Given the description of an element on the screen output the (x, y) to click on. 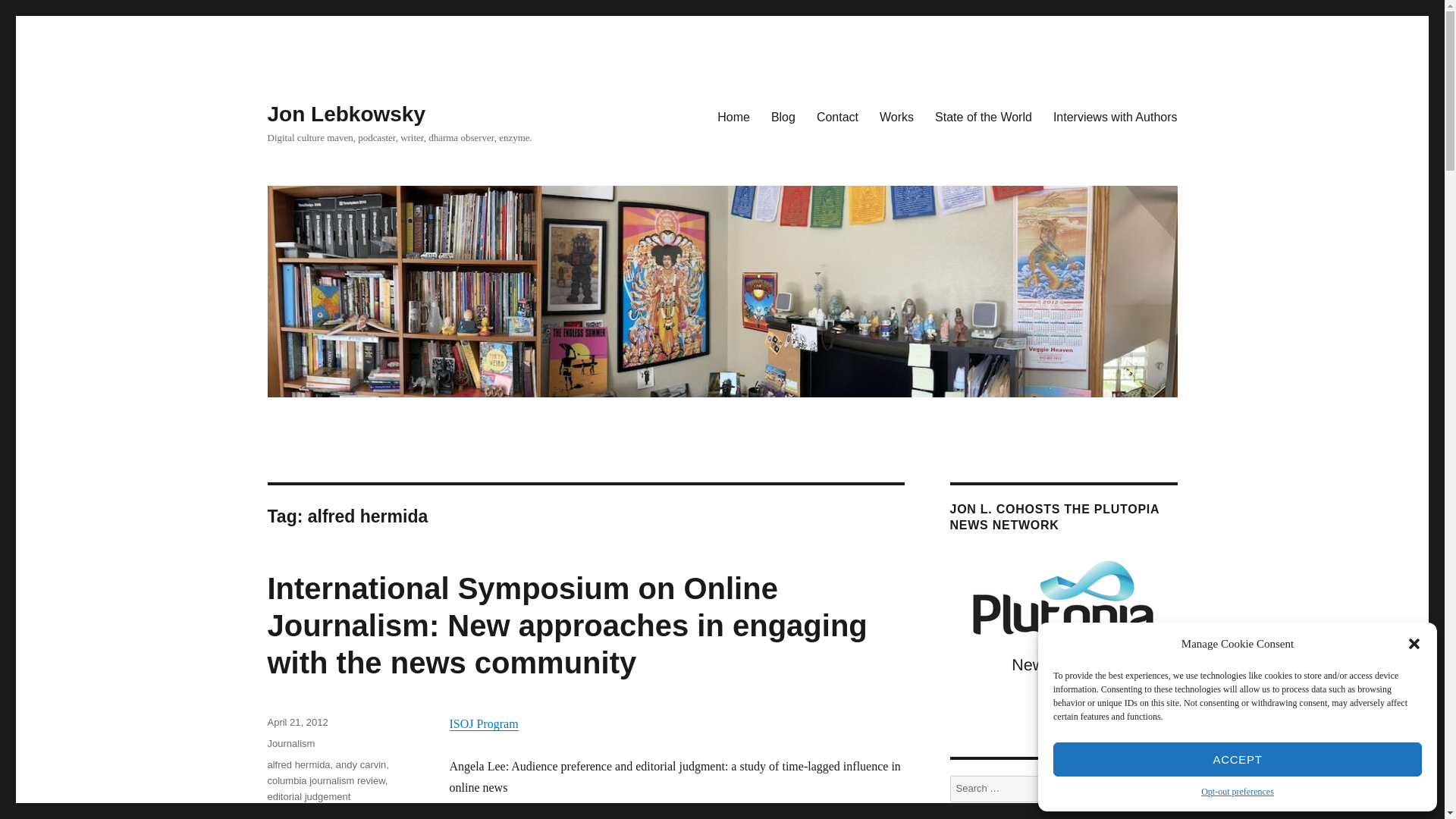
State of the World (983, 116)
alfred hermida (298, 764)
Journalism (290, 743)
Home (733, 116)
Blog (783, 116)
andy carvin (360, 764)
Works (896, 116)
columbia journalism review (325, 780)
ISOJ Program (483, 723)
